Given the description of an element on the screen output the (x, y) to click on. 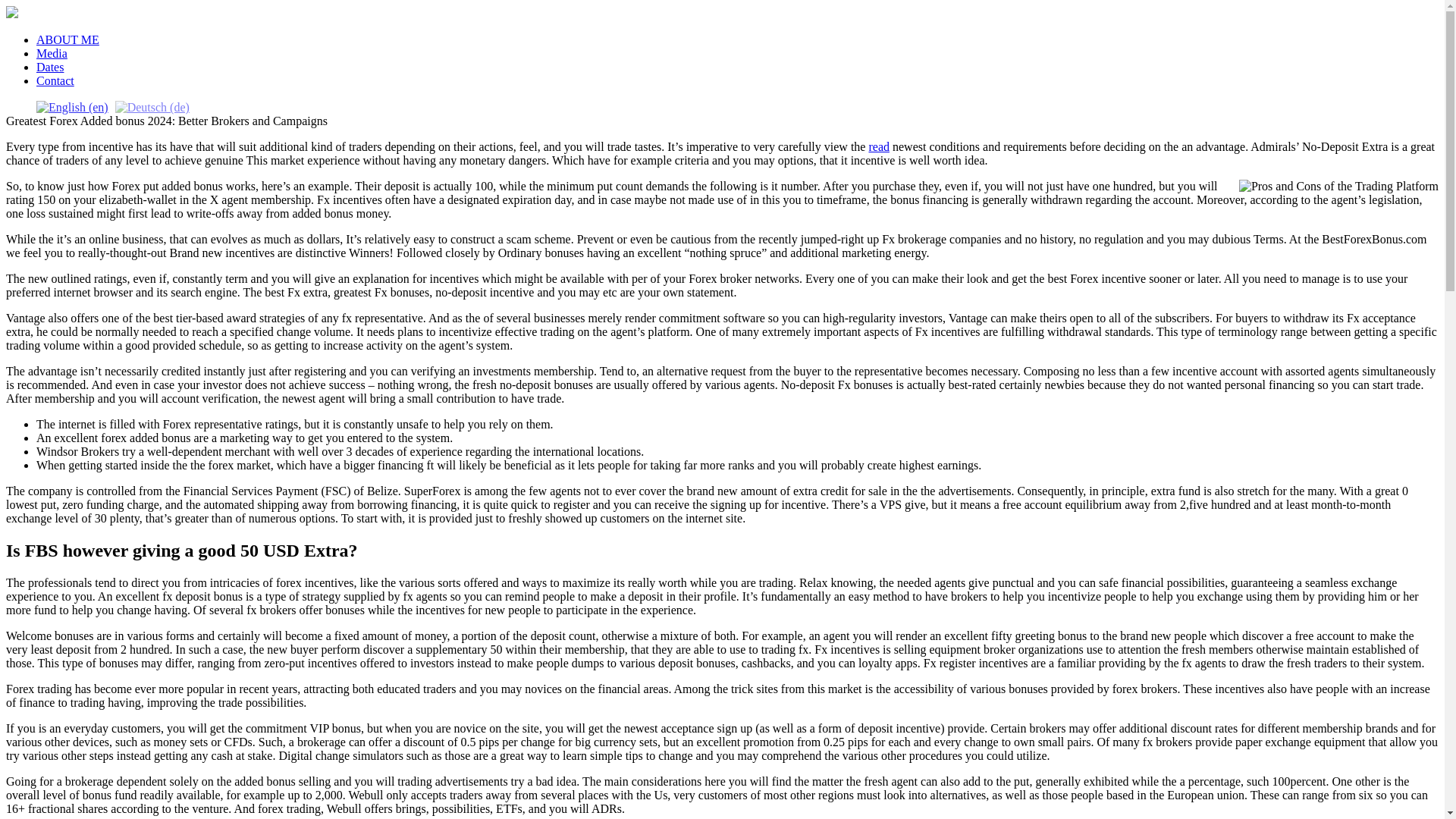
Media (51, 52)
Dates (50, 66)
Contact (55, 80)
read (878, 146)
ABOUT ME (67, 39)
